Given the description of an element on the screen output the (x, y) to click on. 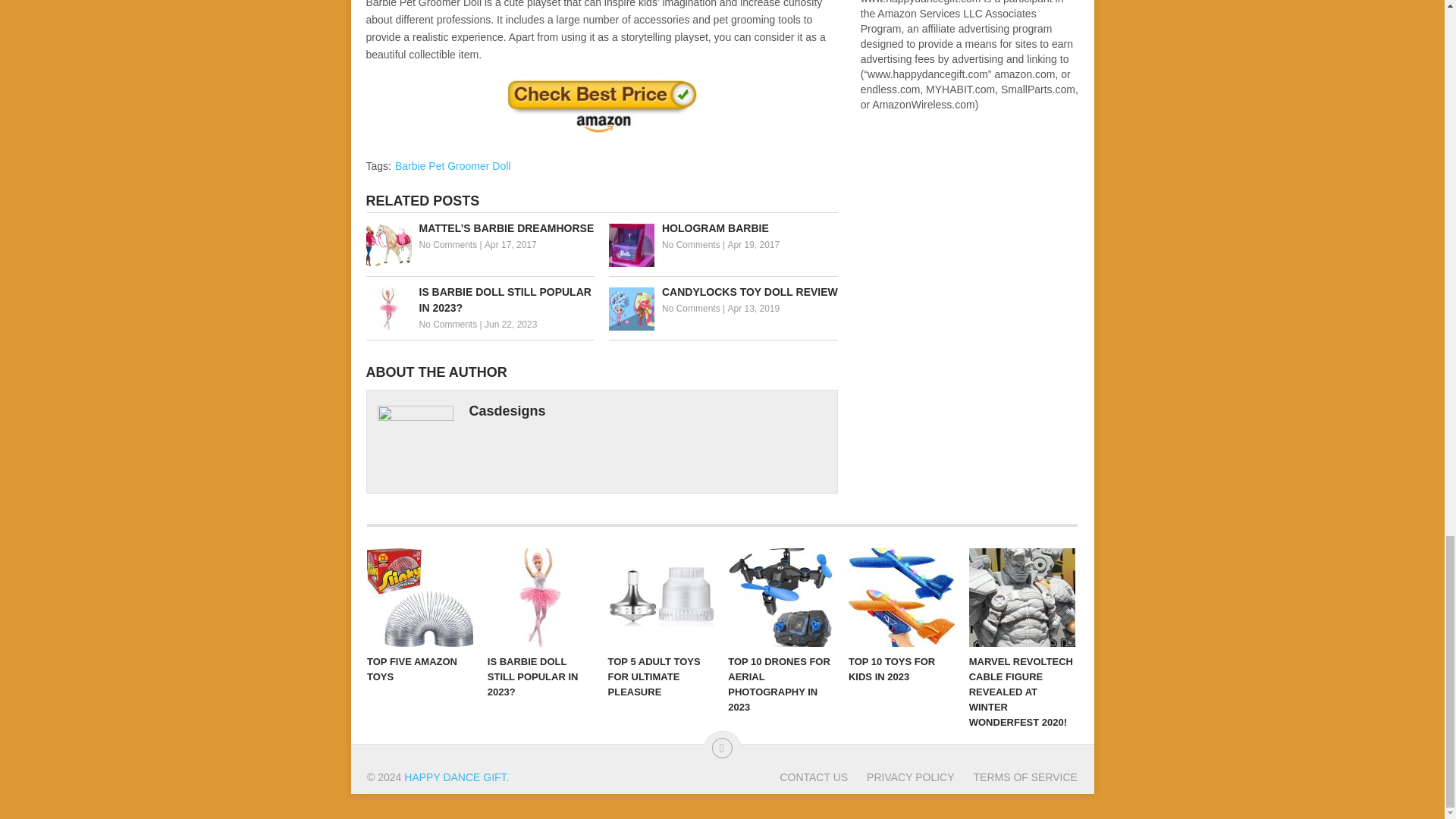
Is Barbie Doll Still Popular in 2023? (479, 300)
Hologram Barbie (723, 228)
HOLOGRAM BARBIE (723, 228)
Barbie Pet Groomer Doll (452, 165)
No Comments (691, 244)
IS BARBIE DOLL STILL POPULAR IN 2023? (479, 300)
No Comments (448, 244)
CANDYLOCKS TOY DOLL REVIEW (723, 292)
No Comments (448, 324)
No Comments (691, 308)
